Given the description of an element on the screen output the (x, y) to click on. 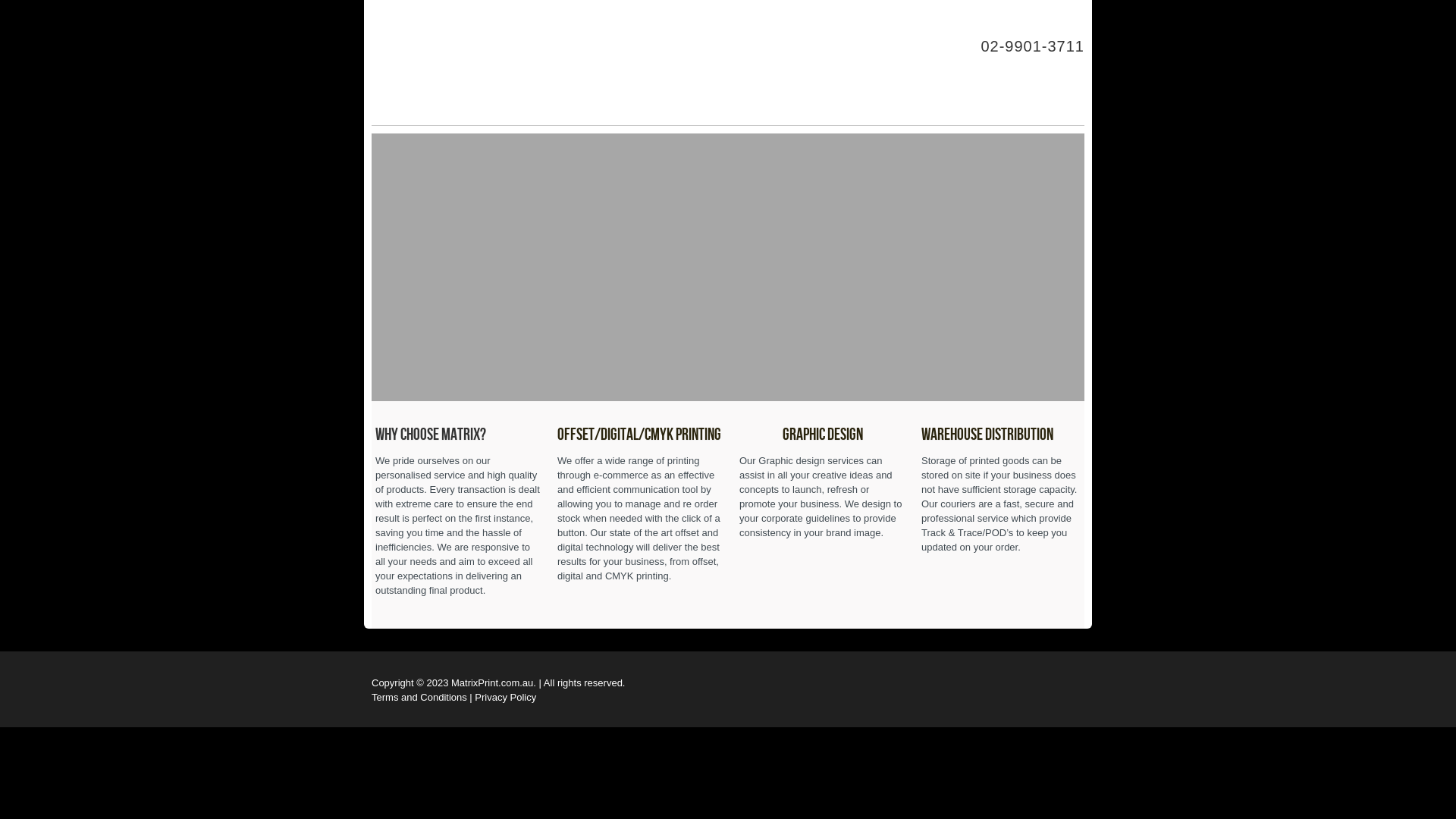
Warehouse distribution Element type: text (987, 434)
Contact Us Element type: text (848, 15)
Graphic design Element type: text (822, 434)
Products and Services Element type: text (734, 15)
Terms and Conditions Element type: text (419, 696)
Privacy Policy Element type: text (505, 696)
Home Element type: text (536, 15)
Offset/Digital/CMYK printing Element type: text (639, 434)
Login Element type: text (1033, 15)
